Given the description of an element on the screen output the (x, y) to click on. 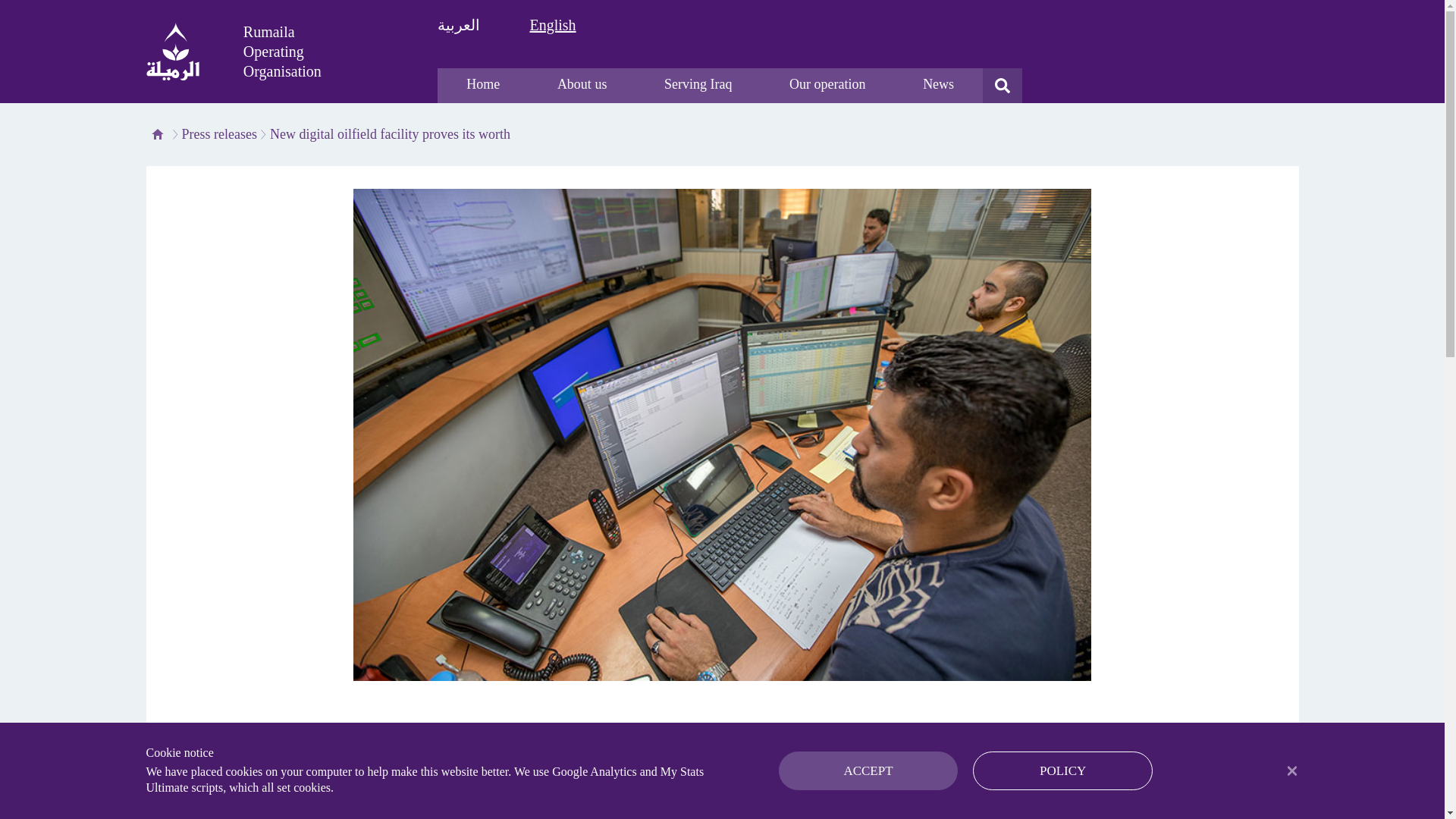
Serving Iraq (697, 85)
Home (483, 85)
News (937, 85)
English (552, 24)
About us (581, 85)
Our operation (826, 85)
